Given the description of an element on the screen output the (x, y) to click on. 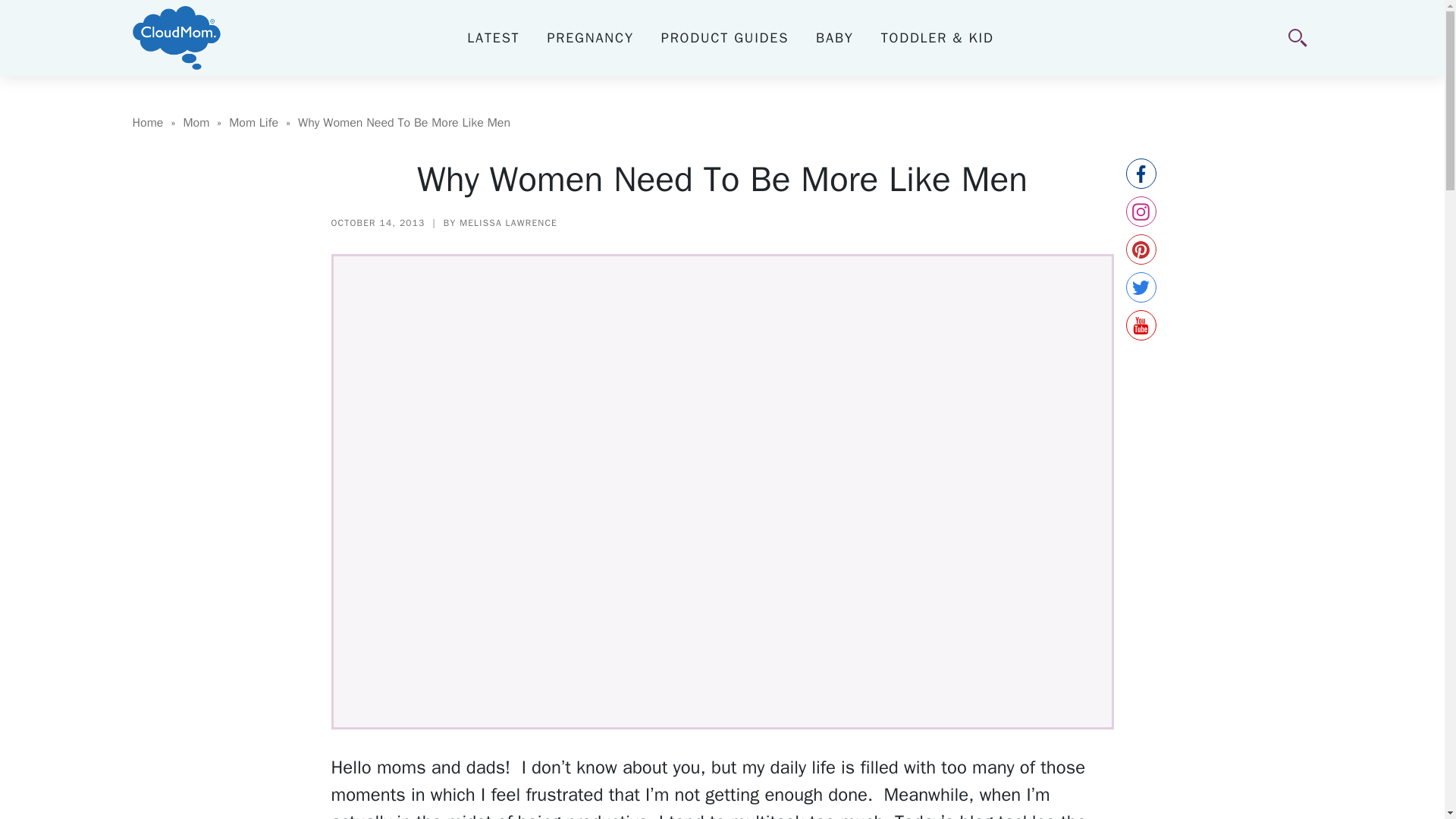
pinterest (1140, 249)
facebook (1140, 173)
LATEST (493, 37)
instagram (1140, 211)
PREGNANCY (590, 37)
twitter (1140, 286)
youtube (1140, 325)
